Given the description of an element on the screen output the (x, y) to click on. 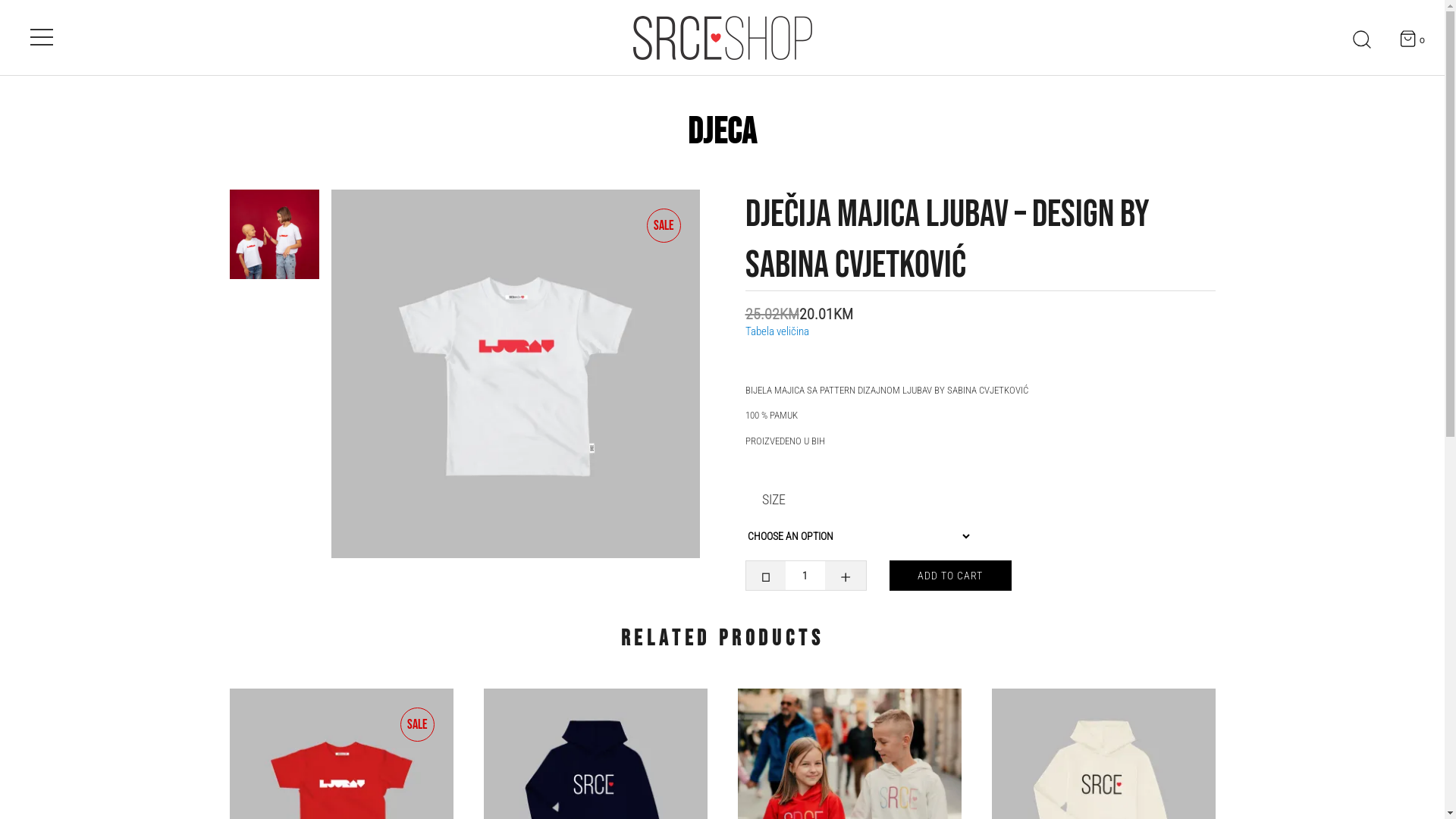
Qty Element type: hover (805, 575)
0 Element type: text (1412, 39)
SZD14 Element type: hover (273, 234)
Djecje bijele majice Element type: hover (515, 373)
ADD TO CART Element type: text (949, 575)
